Given the description of an element on the screen output the (x, y) to click on. 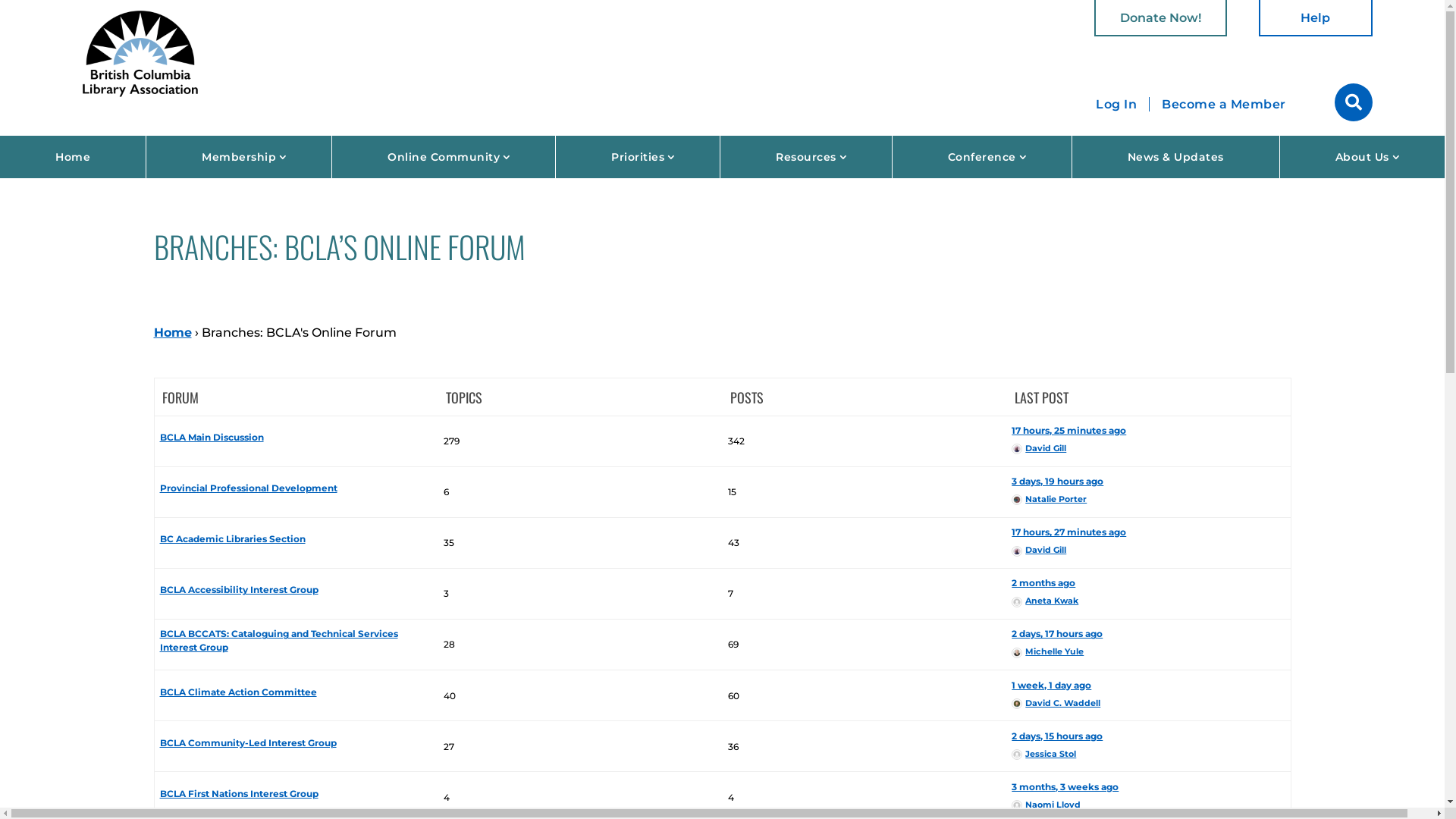
BCLA Main Discussion Element type: text (211, 436)
Log In Element type: text (1115, 104)
17 hours, 27 minutes ago Element type: text (1068, 531)
BCLA Logo Element type: hover (140, 52)
Home Element type: text (72, 156)
Jessica Stol Element type: text (1043, 753)
Gravatar for BCLA Office Element type: hover (1016, 754)
BCLA Community-Led Interest Group Element type: text (248, 742)
David Gill Element type: text (1038, 549)
David Gill Element type: text (1038, 447)
Membership Element type: text (238, 156)
Skip To Content Element type: text (0, 0)
About Us Element type: text (1362, 156)
Michelle Yule Element type: text (1047, 651)
BCLA First Nations Interest Group Element type: text (239, 793)
Provincial Professional Development Element type: text (248, 487)
BCLA Climate Action Committee Element type: text (238, 691)
Gravatar for BCLA Office Element type: hover (1016, 601)
Donate Now! Element type: text (1160, 18)
1 week, 1 day ago Element type: text (1051, 684)
David C. Waddell Element type: text (1055, 702)
Resources Element type: text (805, 156)
17 hours, 25 minutes ago Element type: text (1068, 430)
News & Updates Element type: text (1175, 156)
2 months ago Element type: text (1043, 582)
2 days, 15 hours ago Element type: text (1056, 735)
BCLA Accessibility Interest Group Element type: text (239, 589)
Home Element type: text (172, 332)
Online Community Element type: text (443, 156)
Conference Element type: text (981, 156)
3 months, 3 weeks ago Element type: text (1064, 786)
Aneta Kwak Element type: text (1044, 600)
Gravatar for BCLA Office Element type: hover (1016, 805)
3 days, 19 hours ago Element type: text (1057, 480)
Natalie Porter Element type: text (1048, 498)
Help Element type: text (1315, 18)
Become a Member Element type: text (1223, 104)
Priorities Element type: text (637, 156)
Naomi Lloyd Element type: text (1045, 804)
BC Academic Libraries Section Element type: text (232, 538)
2 days, 17 hours ago Element type: text (1056, 633)
